Given the description of an element on the screen output the (x, y) to click on. 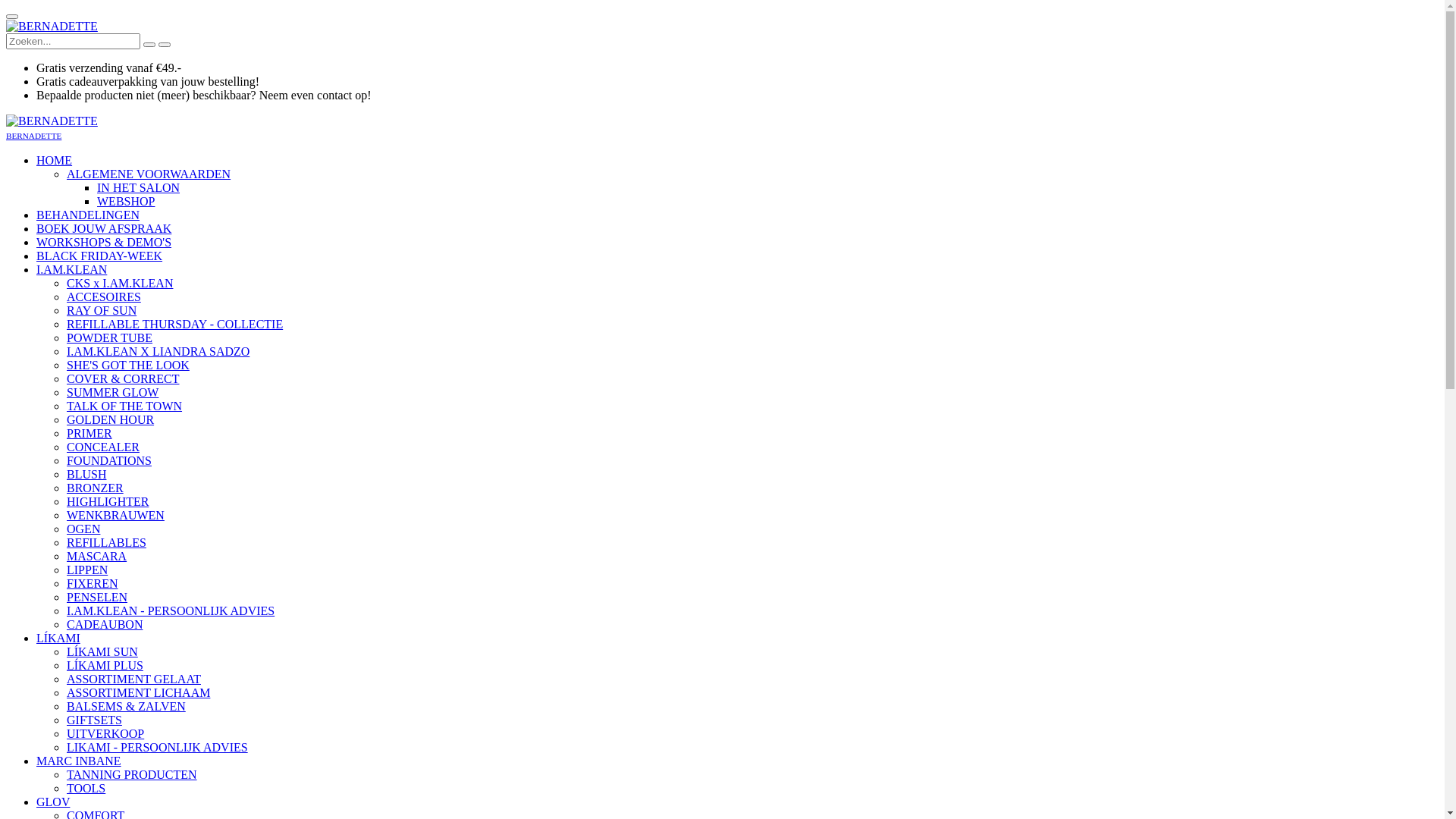
BERNADETTE Element type: hover (51, 26)
BOEK JOUW AFSPRAAK Element type: text (103, 228)
IN HET SALON Element type: text (138, 187)
UITVERKOOP Element type: text (105, 733)
CADEAUBON Element type: text (104, 624)
TALK OF THE TOWN Element type: text (124, 405)
CKS x I.AM.KLEAN Element type: text (119, 282)
POWDER TUBE Element type: text (109, 337)
BLACK FRIDAY-WEEK Element type: text (99, 255)
MASCARA Element type: text (96, 555)
BERNADETTE Element type: text (33, 134)
REFILLABLES Element type: text (106, 542)
RAY OF SUN Element type: text (101, 310)
HIGHLIGHTER Element type: text (107, 501)
SHE'S GOT THE LOOK Element type: text (127, 364)
BERNADETTE Element type: hover (51, 121)
FOUNDATIONS Element type: text (108, 460)
MARC INBANE Element type: text (78, 760)
BRONZER Element type: text (94, 487)
WENKBRAUWEN Element type: text (115, 514)
BLUSH Element type: text (86, 473)
OGEN Element type: text (83, 528)
FIXEREN Element type: text (92, 583)
I.AM.KLEAN X LIANDRA SADZO Element type: text (157, 351)
TANNING PRODUCTEN Element type: text (131, 774)
ALGEMENE VOORWAARDEN Element type: text (148, 173)
PENSELEN Element type: text (96, 596)
LIKAMI - PERSOONLIJK ADVIES Element type: text (156, 746)
I.AM.KLEAN - PERSOONLIJK ADVIES Element type: text (170, 610)
WEBSHOP Element type: text (125, 200)
PRIMER Element type: text (89, 432)
ASSORTIMENT GELAAT Element type: text (133, 678)
ACCESOIRES Element type: text (103, 296)
GIFTSETS Element type: text (94, 719)
TOOLS Element type: text (85, 787)
GLOV Element type: text (52, 801)
COVER & CORRECT Element type: text (122, 378)
LIPPEN Element type: text (86, 569)
I.AM.KLEAN Element type: text (71, 269)
BEHANDELINGEN Element type: text (87, 214)
CONCEALER Element type: text (102, 446)
WORKSHOPS & DEMO'S Element type: text (103, 241)
ASSORTIMENT LICHAAM Element type: text (138, 692)
SUMMER GLOW Element type: text (112, 391)
GOLDEN HOUR Element type: text (109, 419)
REFILLABLE THURSDAY - COLLECTIE Element type: text (174, 323)
BALSEMS & ZALVEN Element type: text (125, 705)
HOME Element type: text (54, 159)
